Given the description of an element on the screen output the (x, y) to click on. 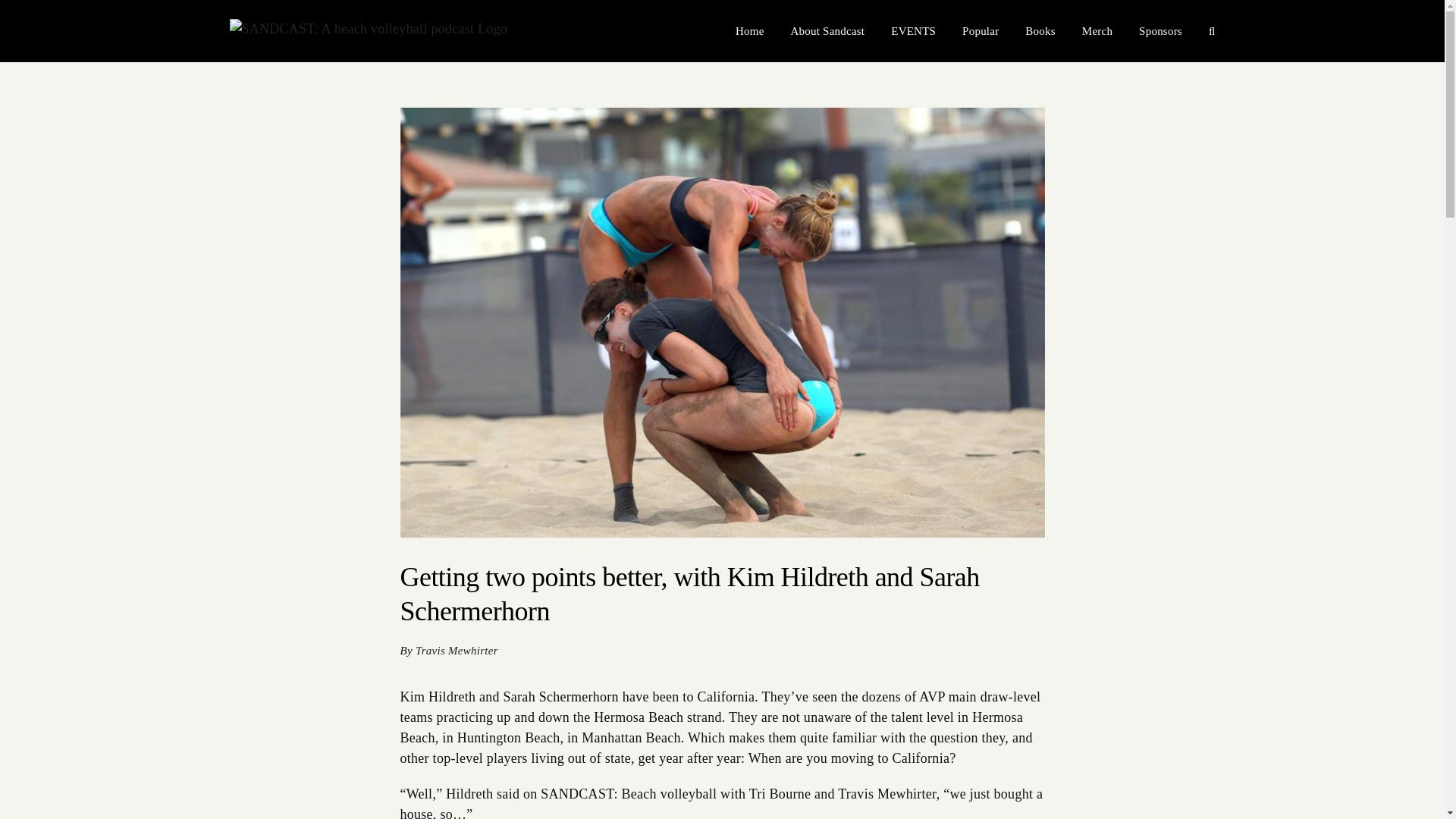
Posts by Travis Mewhirter (455, 650)
Travis Mewhirter (455, 650)
About Sandcast (827, 31)
